Given the description of an element on the screen output the (x, y) to click on. 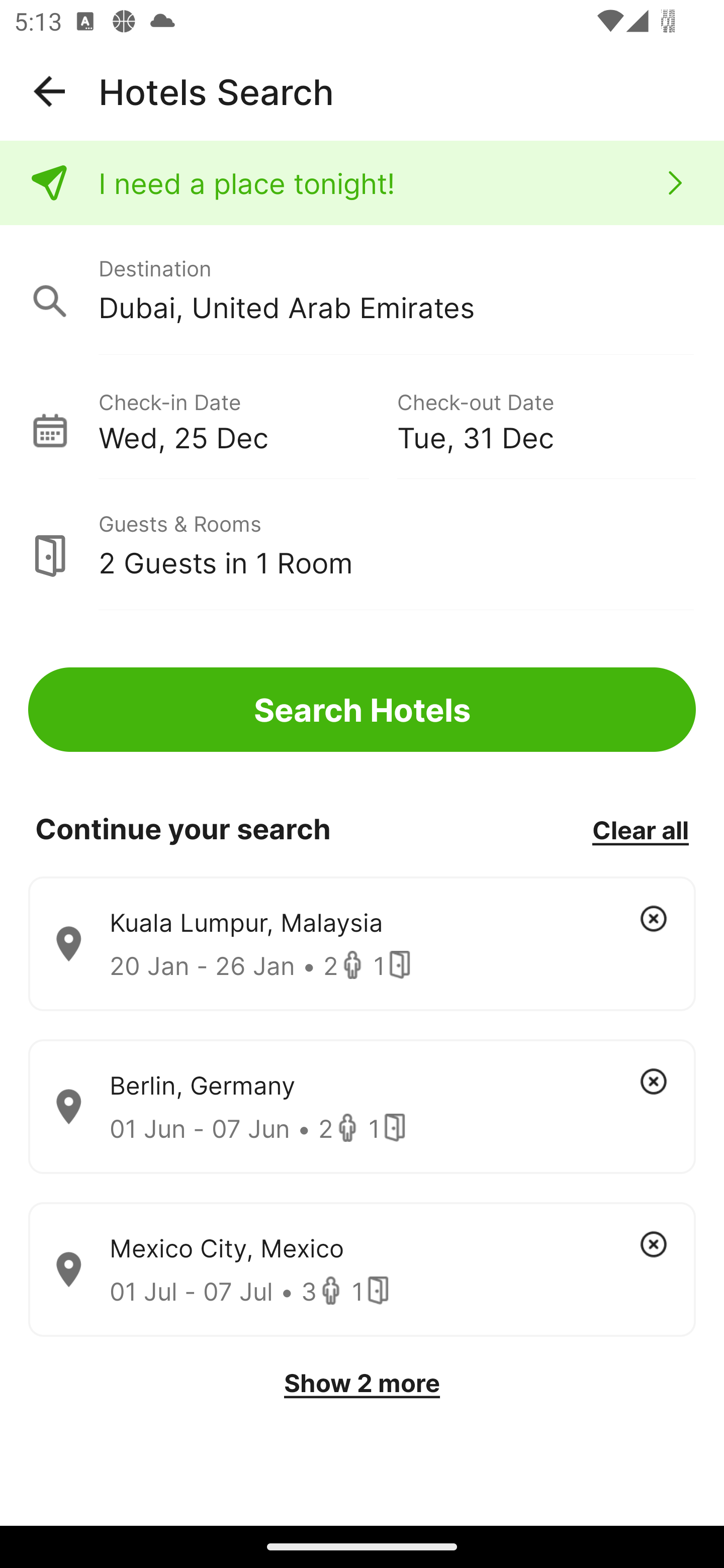
I need a place tonight! (362, 183)
Destination Dubai, United Arab Emirates (362, 290)
Check-in Date Wed, 25 Dec (247, 418)
Check-out Date Tue, 31 Dec (546, 418)
Guests & Rooms 2 Guests in 1 Room (362, 545)
Search Hotels (361, 709)
Clear all (640, 829)
Kuala Lumpur, Malaysia 20 Jan - 26 Jan • 2  1  (361, 943)
Berlin, Germany 01 Jun - 07 Jun • 2  1  (361, 1106)
Mexico City, Mexico 01 Jul - 07 Jul • 3  1  (361, 1269)
Show 2 more (362, 1382)
